Given the description of an element on the screen output the (x, y) to click on. 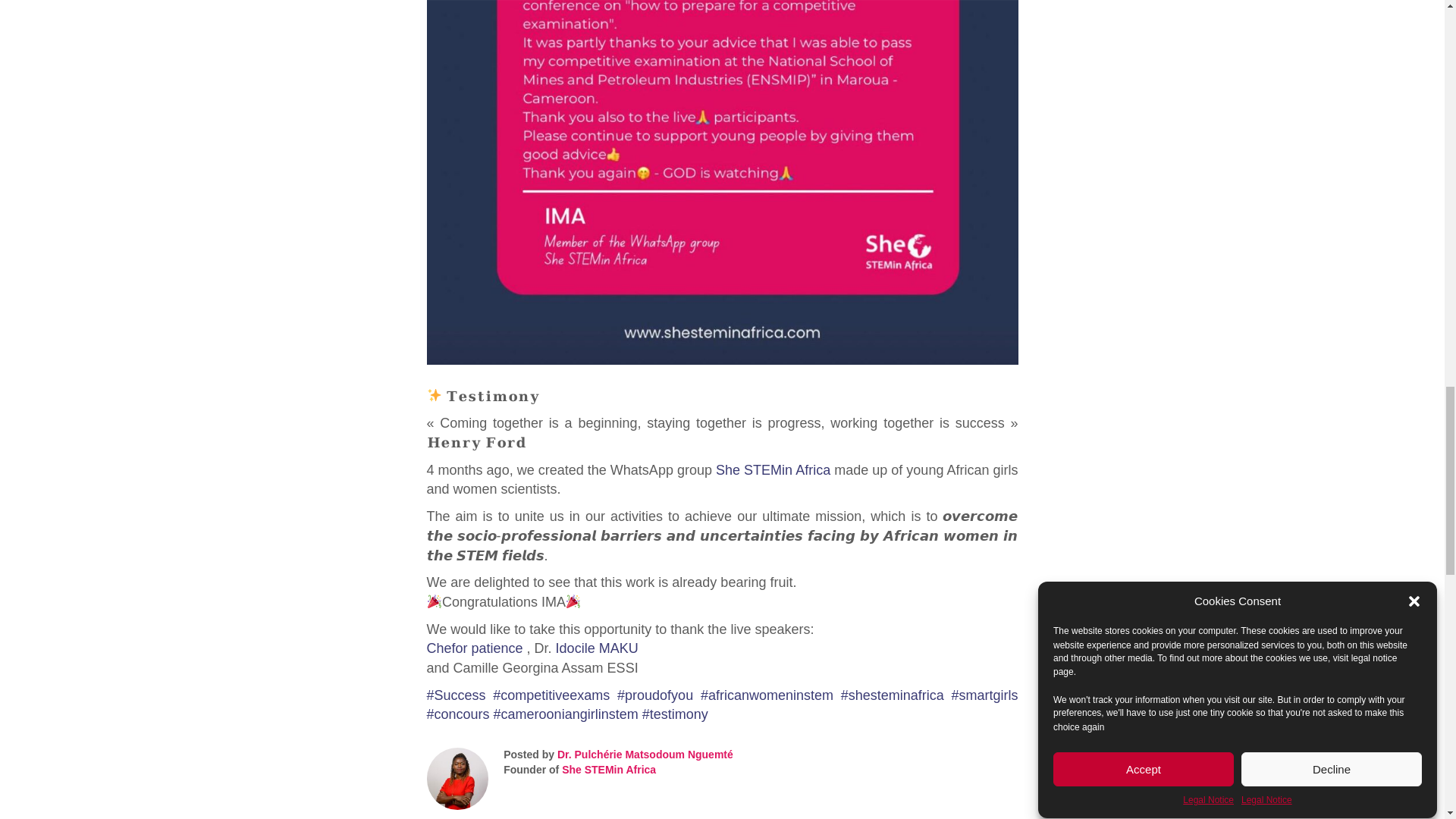
Chefor patience (474, 648)
She STEMin Africa (772, 469)
Idocile MAKU (597, 648)
